Given the description of an element on the screen output the (x, y) to click on. 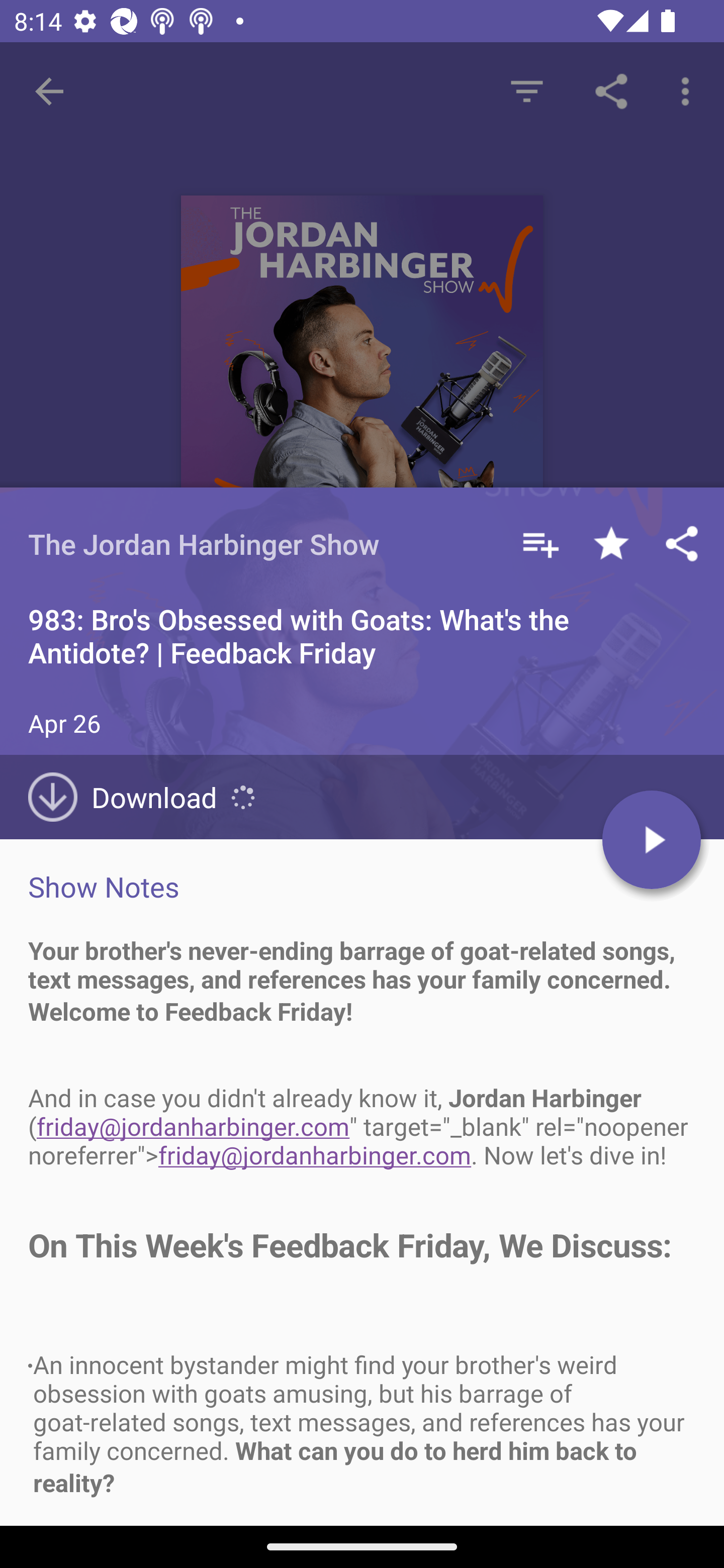
Download (129, 797)
